Given the description of an element on the screen output the (x, y) to click on. 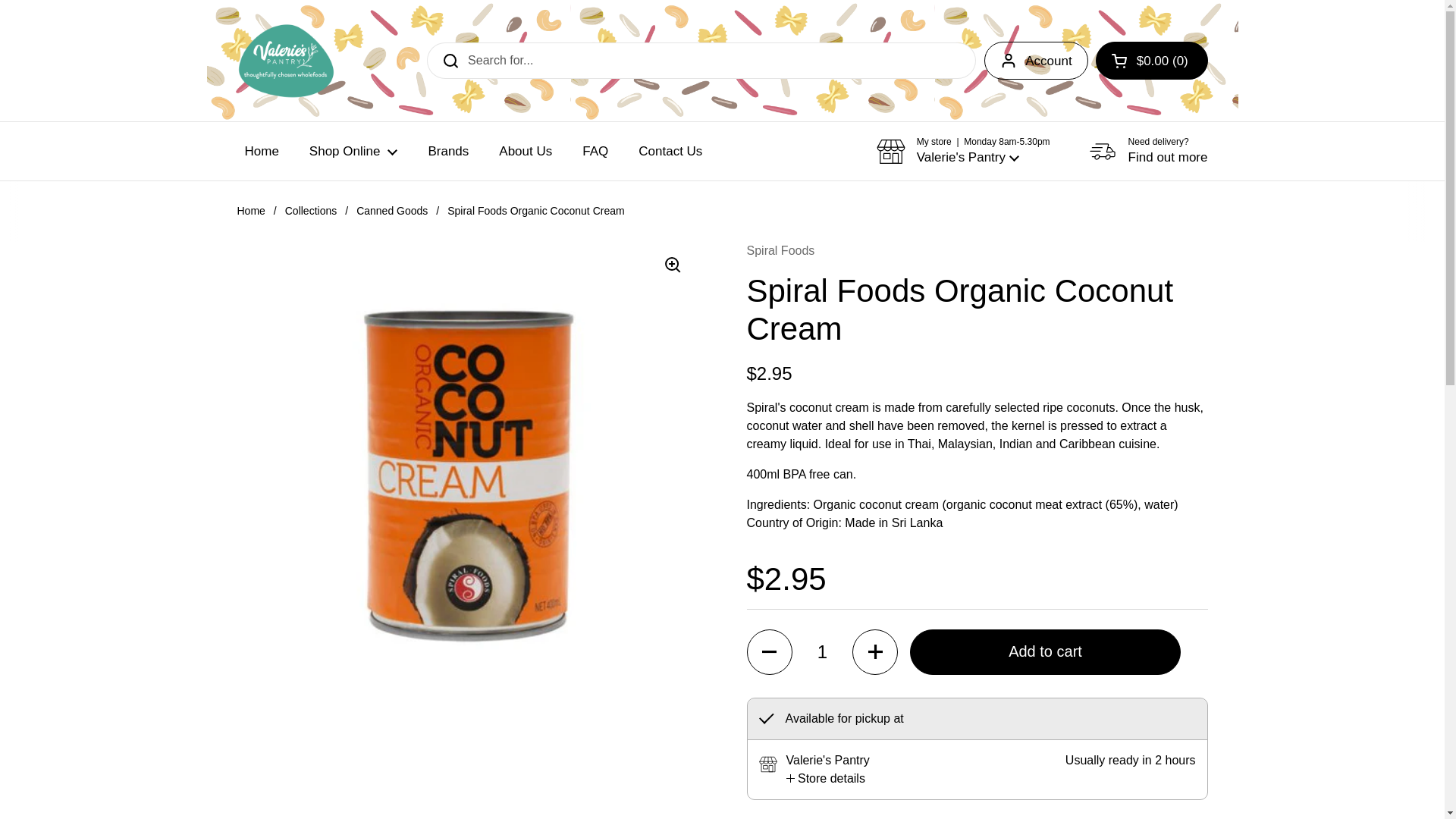
Open cart (1152, 60)
Account (1035, 60)
Valerie's Pantry (284, 60)
Shop Online (353, 150)
Home (261, 150)
1 (821, 651)
